Given the description of an element on the screen output the (x, y) to click on. 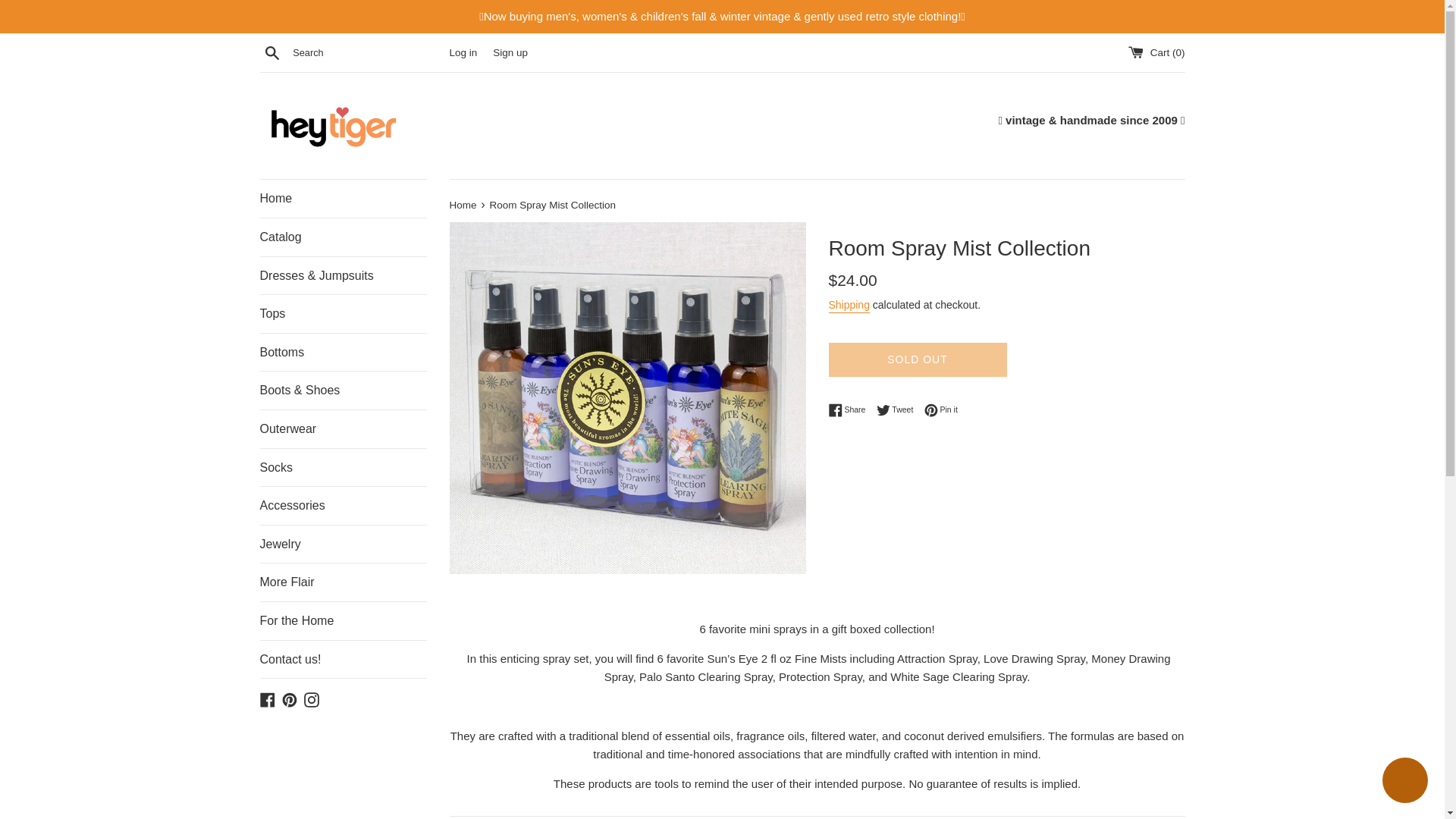
Accessories (342, 505)
Tweet on Twitter (898, 409)
Home (463, 204)
Hey Tiger  on Facebook (267, 698)
Hey Tiger  on Pinterest (289, 698)
For the Home (850, 409)
Shopify online store chat (342, 620)
Pinterest (941, 409)
